Given the description of an element on the screen output the (x, y) to click on. 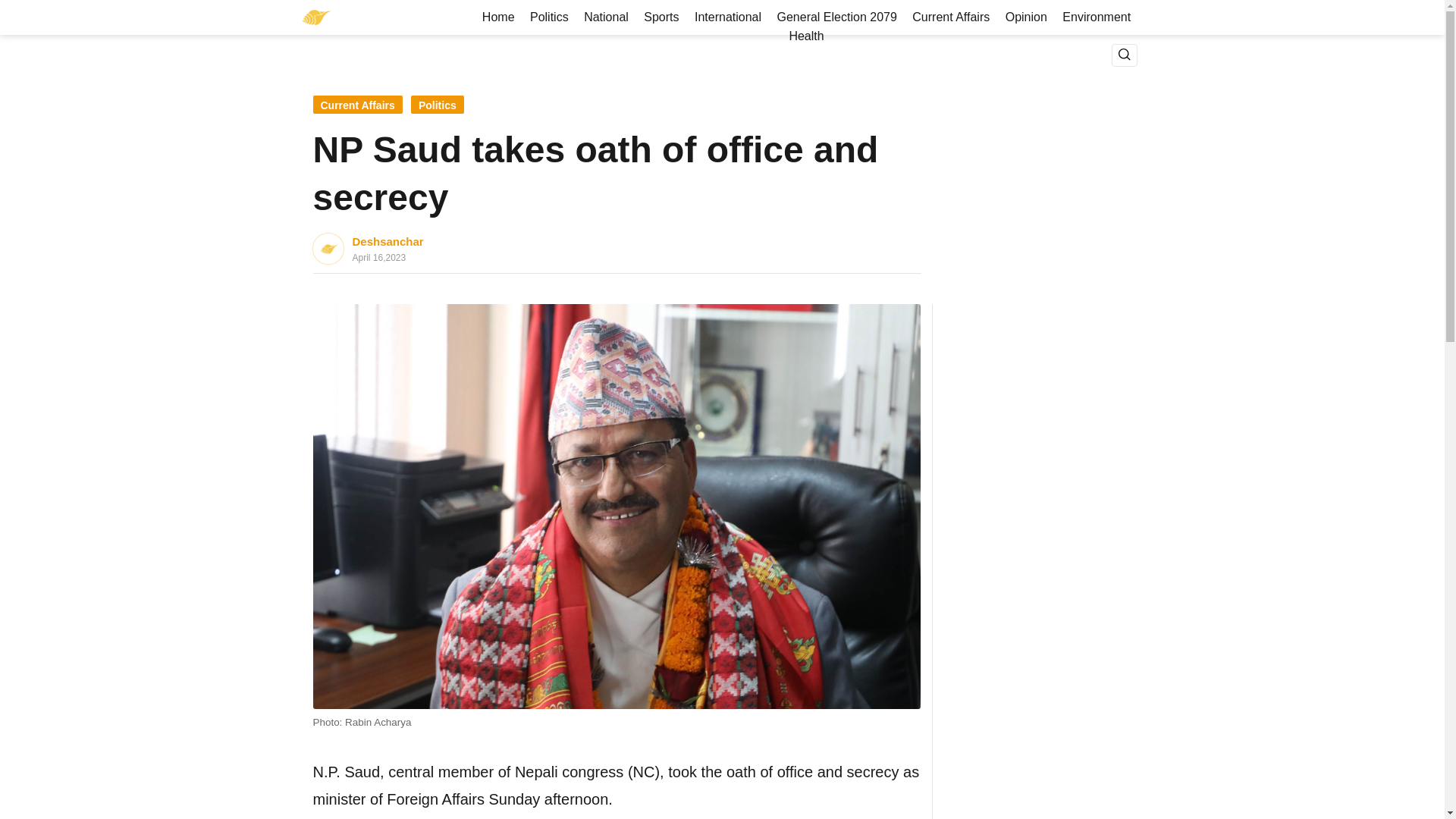
Current Affairs (950, 16)
General Election 2079 (836, 16)
Health (806, 35)
Opinion (1025, 16)
Politics (549, 16)
International (727, 16)
Home (498, 16)
April 16,2023 (387, 257)
Current Affairs (357, 104)
National (606, 16)
Politics (437, 104)
Sports (660, 16)
View all posts under Current Affairs category (357, 104)
Environment (1097, 16)
View all posts under Politics category (437, 104)
